Given the description of an element on the screen output the (x, y) to click on. 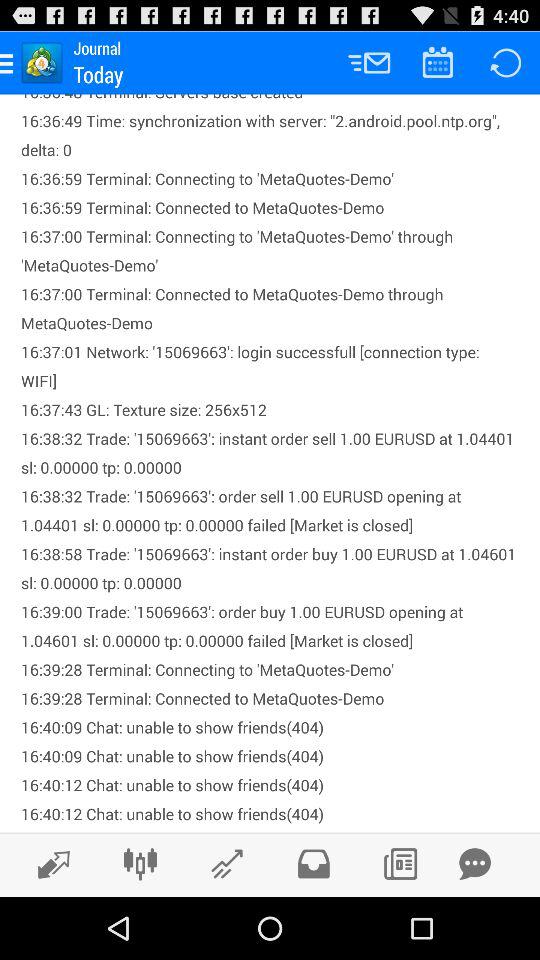
scroll until 16 36 48 icon (270, 463)
